Given the description of an element on the screen output the (x, y) to click on. 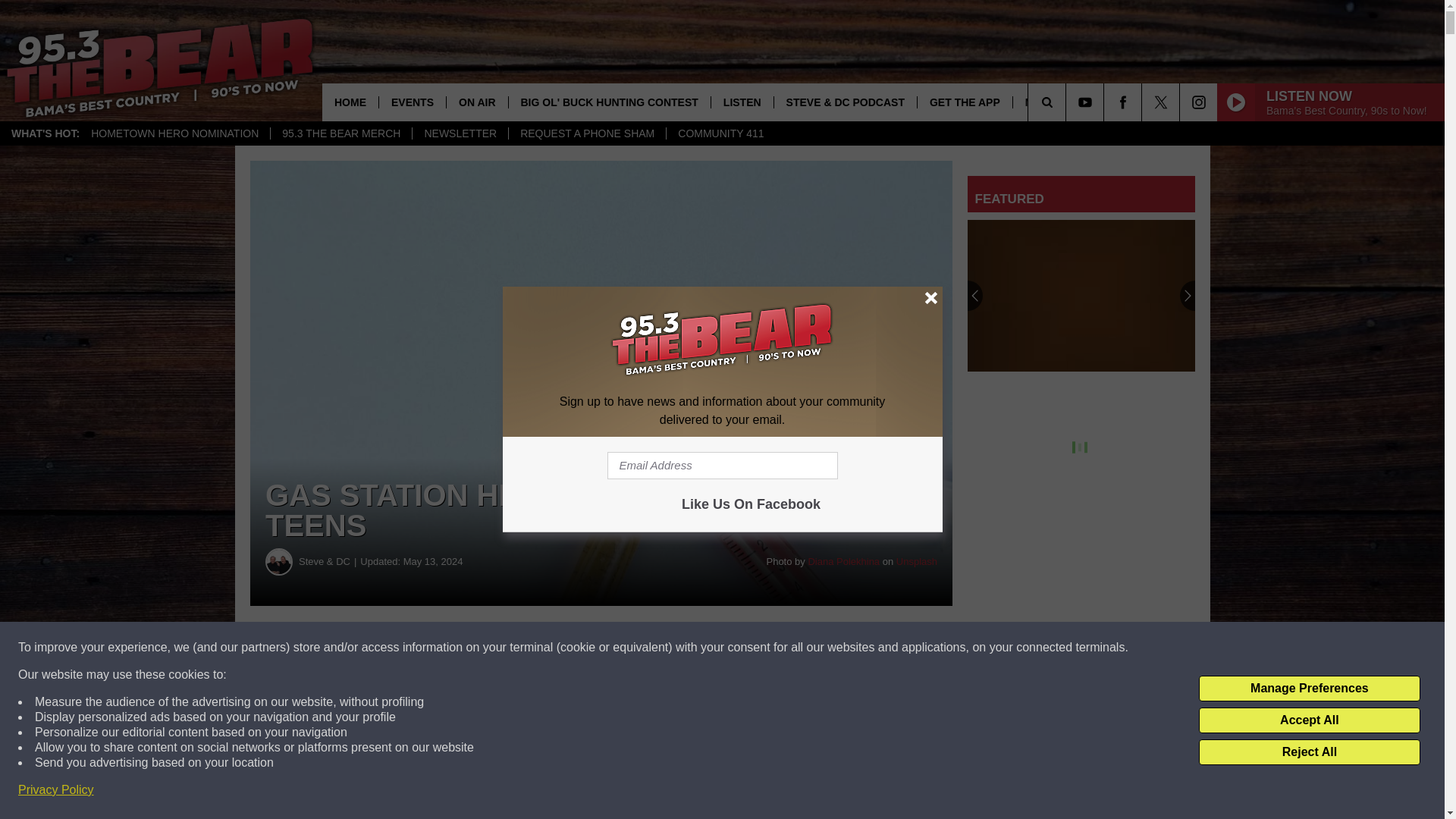
Share on Facebook (460, 647)
95.3 THE BEAR MERCH (340, 133)
Share on Twitter (741, 647)
LISTEN (741, 102)
Privacy Policy (55, 789)
Reject All (1309, 751)
SEARCH (1068, 102)
Manage Preferences (1309, 688)
HOME (349, 102)
ON AIR (475, 102)
NEWSLETTER (460, 133)
REQUEST A PHONE SHAM (586, 133)
SEARCH (1068, 102)
Email Address (722, 465)
BIG OL' BUCK HUNTING CONTEST (609, 102)
